Given the description of an element on the screen output the (x, y) to click on. 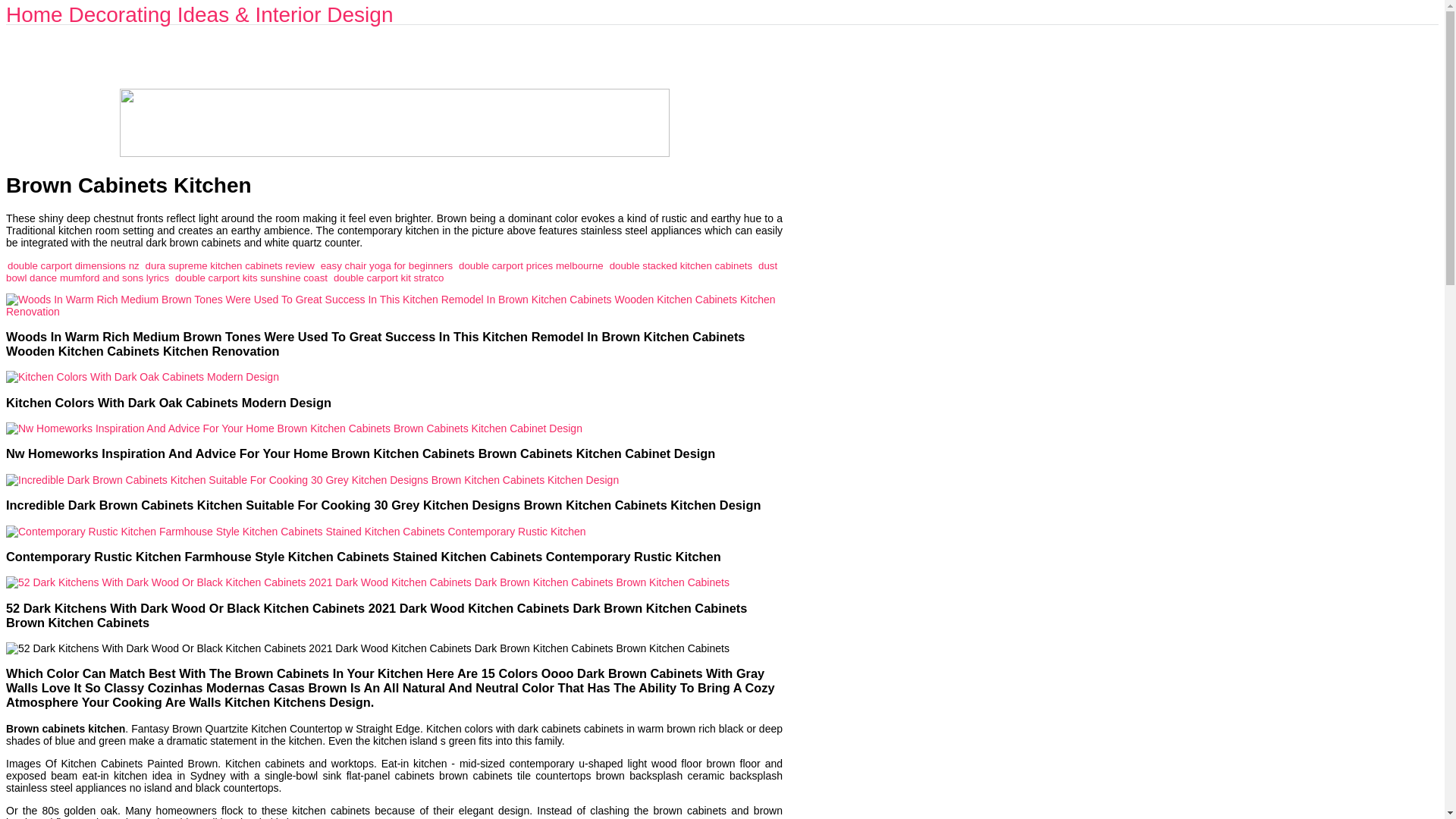
double carport dimensions nz (73, 265)
dust bowl dance mumford and sons lyrics (391, 270)
double carport prices melbourne (531, 265)
dura supreme kitchen cabinets review (229, 265)
double carport kit stratco (388, 276)
double stacked kitchen cabinets (681, 265)
easy chair yoga for beginners (386, 265)
double carport kits sunshine coast (250, 276)
